Given the description of an element on the screen output the (x, y) to click on. 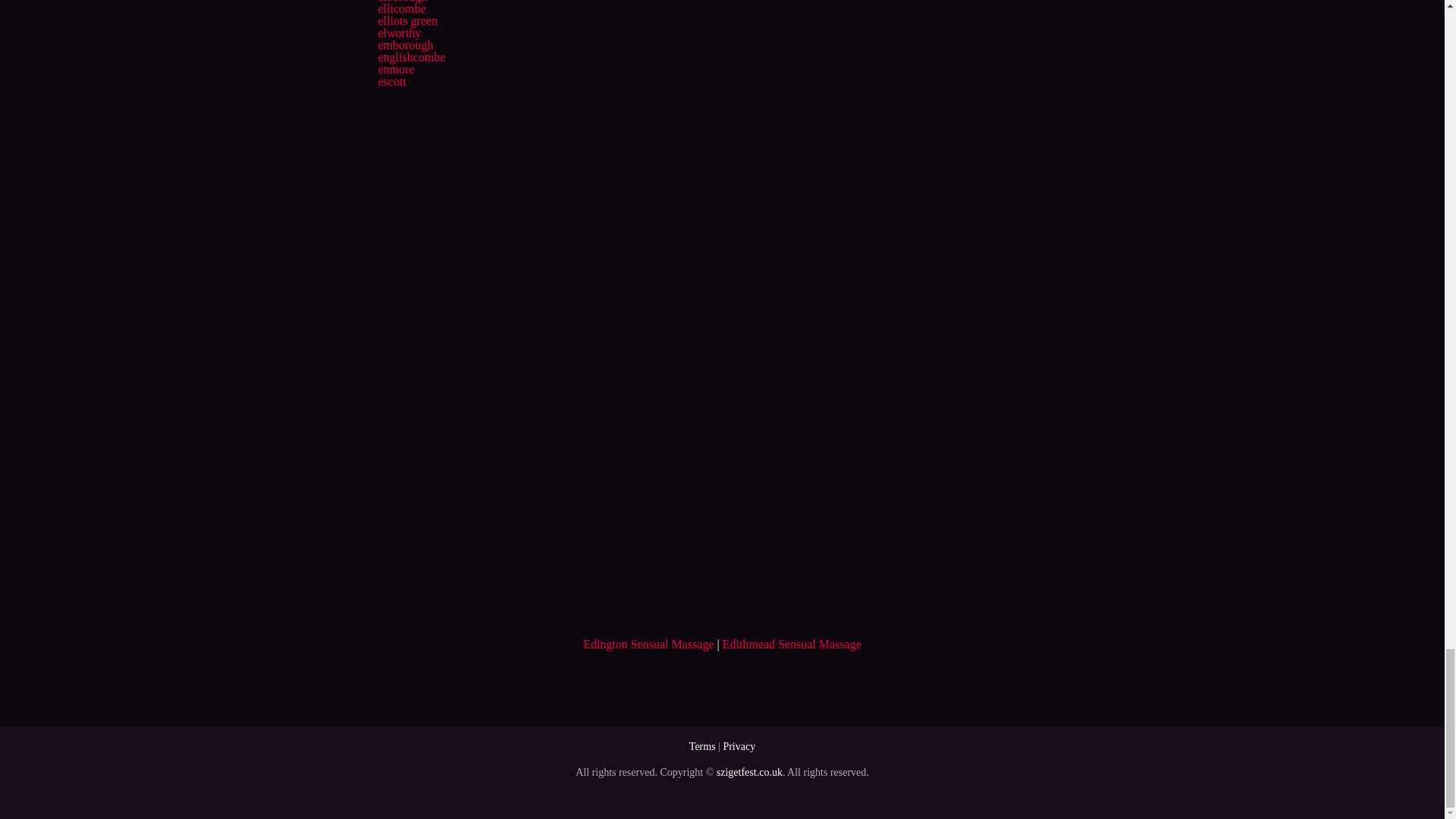
Edington Sensual Massage (648, 644)
elborough (401, 1)
Edithmead Sensual Massage (791, 644)
ellicombe (401, 8)
Privacy (738, 746)
enmore (395, 69)
Terms (702, 746)
emborough (404, 44)
szigetfest.co.uk (749, 772)
englishcombe (411, 56)
Terms (702, 746)
elliots green (407, 20)
escott (391, 81)
Privacy (738, 746)
elworthy (398, 32)
